Given the description of an element on the screen output the (x, y) to click on. 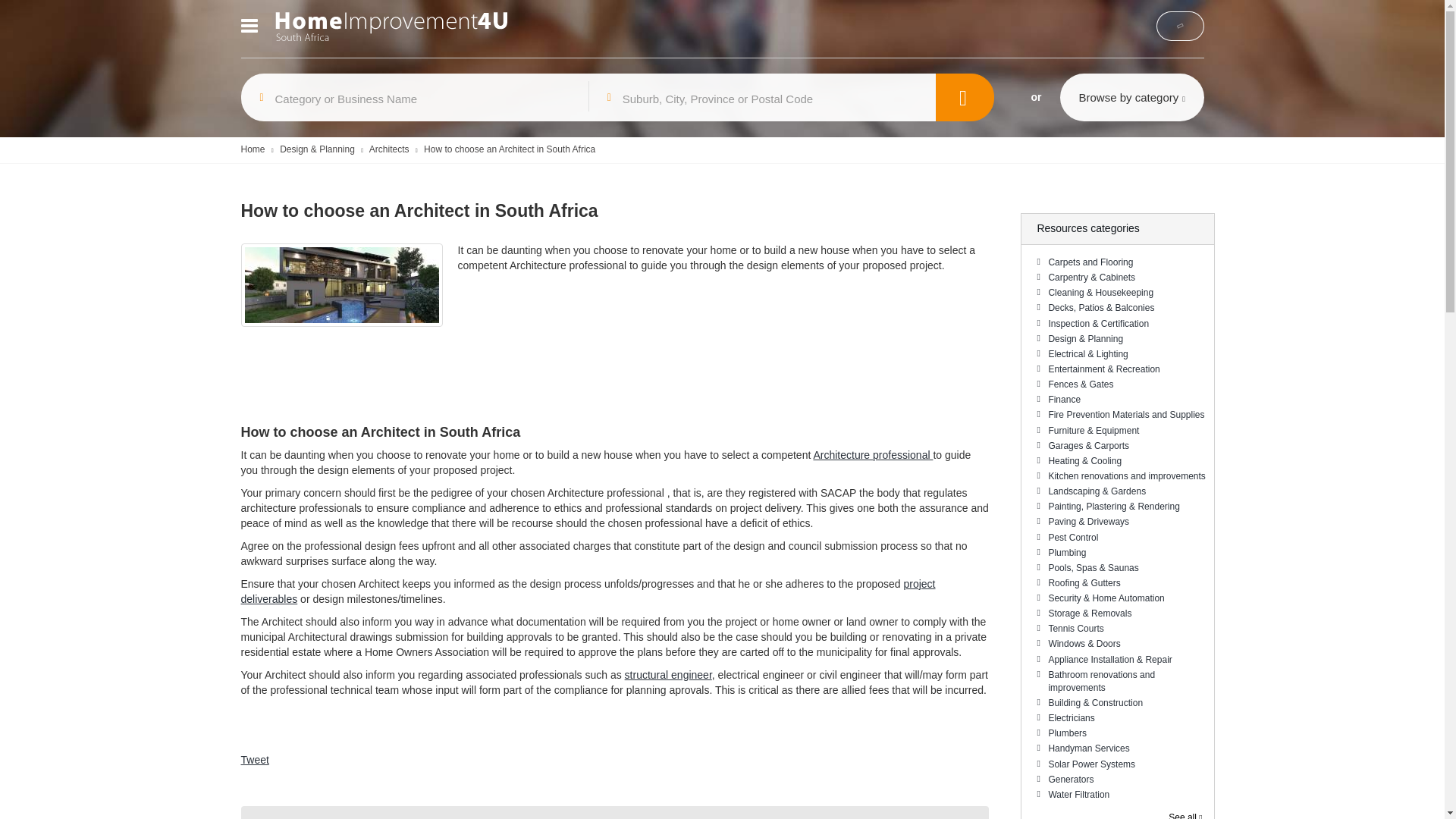
How to choose an Architect in South Africa (509, 149)
Architects (389, 149)
Home (252, 149)
project deliverables (588, 591)
Tweet (255, 759)
structural engineer (667, 674)
How to choose an Architect in South Africa (509, 149)
Browse by category (1131, 97)
Architecture professional (872, 454)
Architects (389, 149)
